Given the description of an element on the screen output the (x, y) to click on. 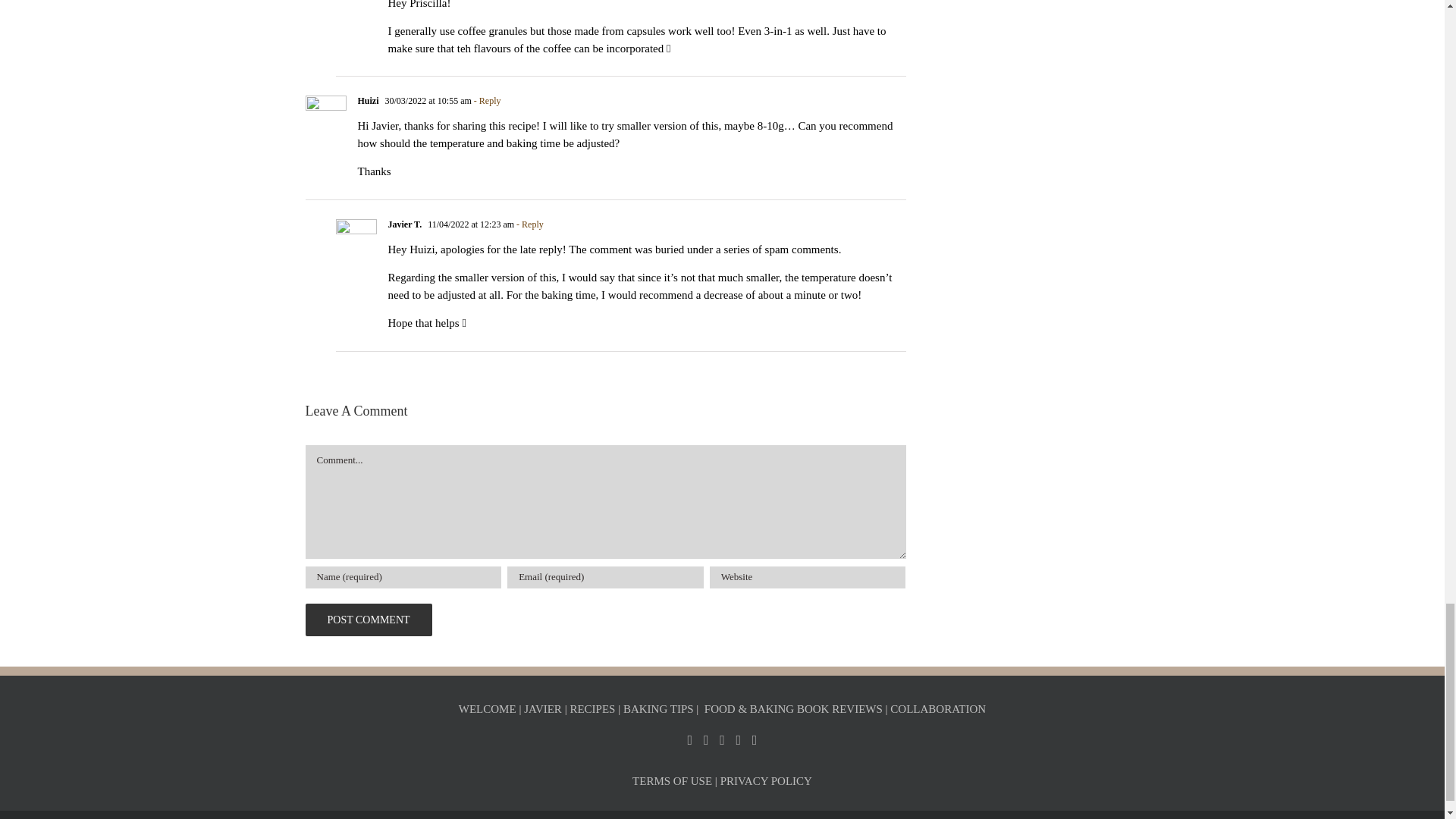
Post Comment (367, 619)
